Given the description of an element on the screen output the (x, y) to click on. 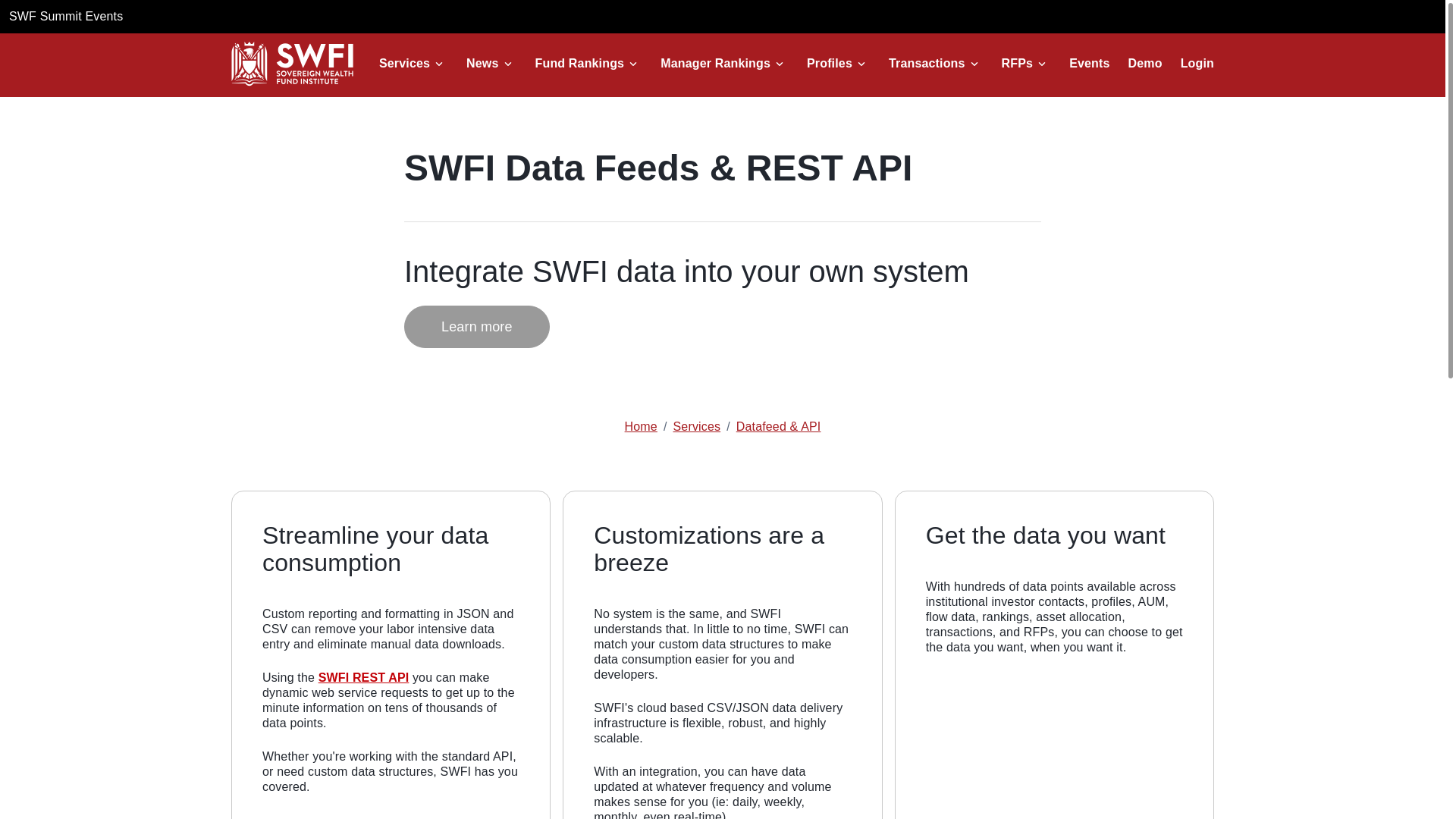
Services (403, 63)
SWF Summit Events (65, 15)
Manager Rankings (715, 63)
News (481, 63)
Fund Rankings (579, 63)
